Given the description of an element on the screen output the (x, y) to click on. 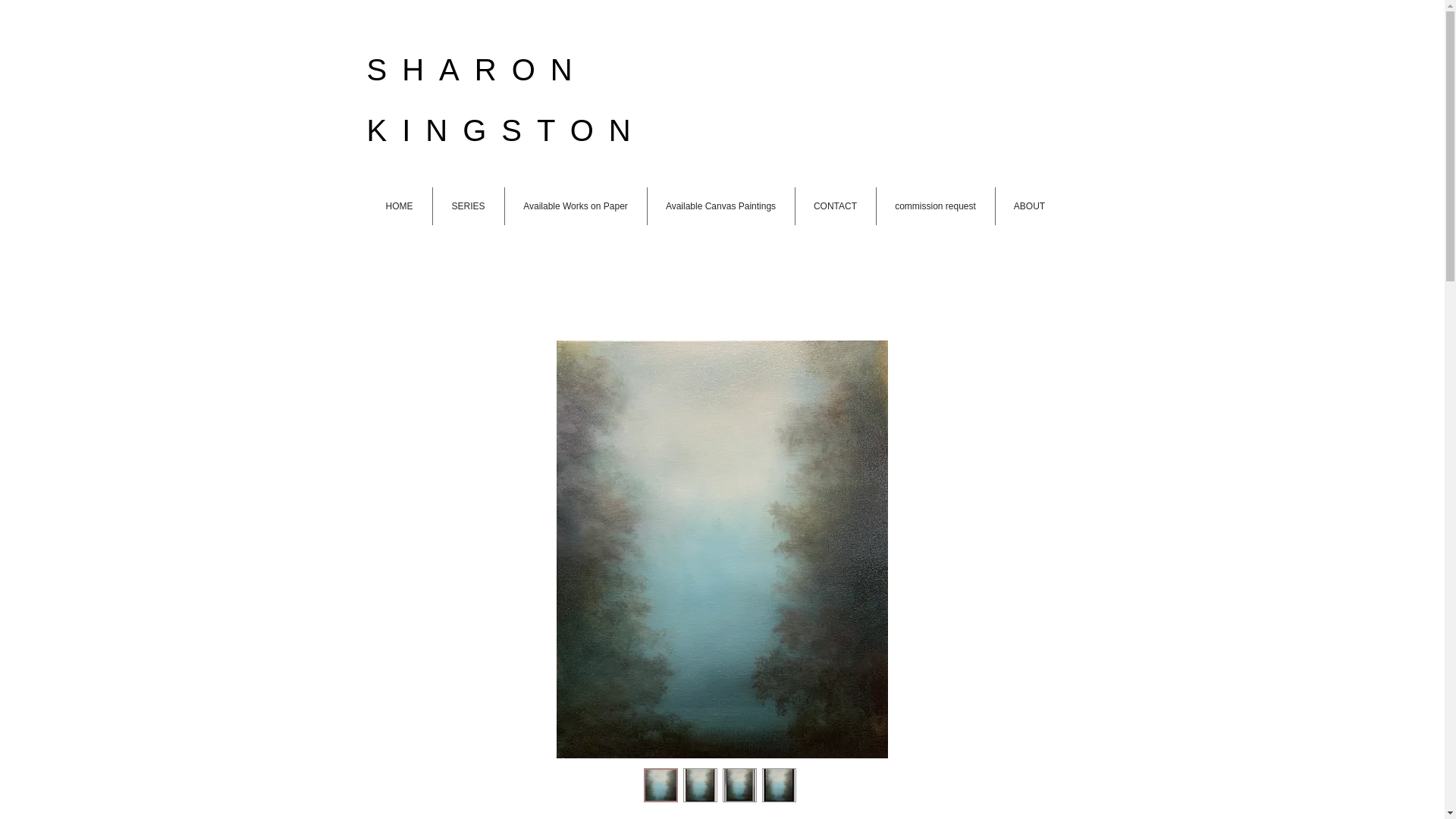
ABOUT (1055, 2)
CONTACT (845, 2)
SERIES (467, 206)
ABOUT (1028, 206)
Available Works on Paper (575, 206)
commission request (953, 2)
Available Canvas Paintings (720, 206)
Available Works on Paper (574, 2)
Available Canvas Paintings (724, 2)
HOME (386, 2)
